Given the description of an element on the screen output the (x, y) to click on. 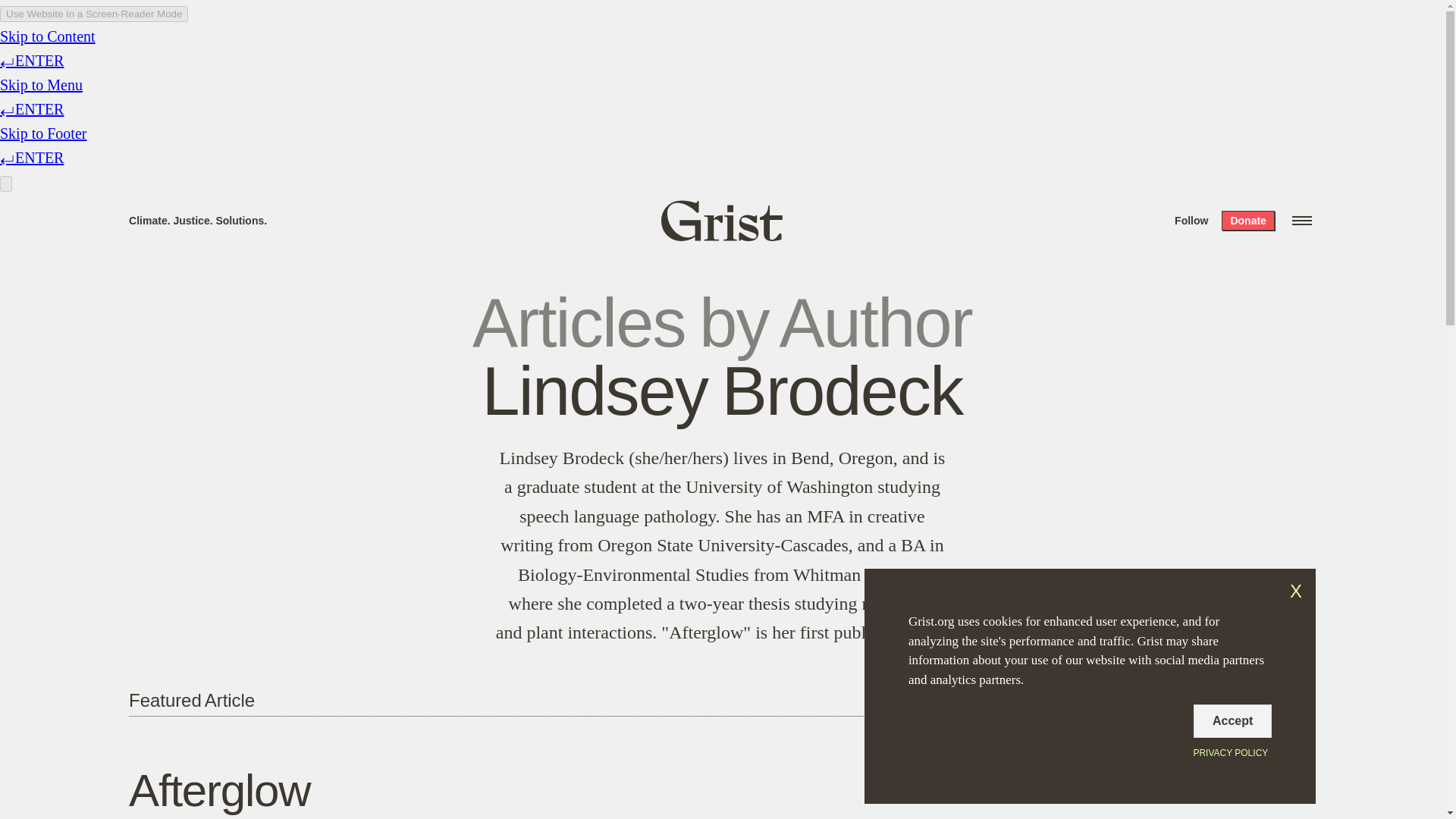
Donate (1247, 220)
Follow (1191, 220)
Grist home (722, 219)
Accept (1232, 720)
Search (227, 18)
